Given the description of an element on the screen output the (x, y) to click on. 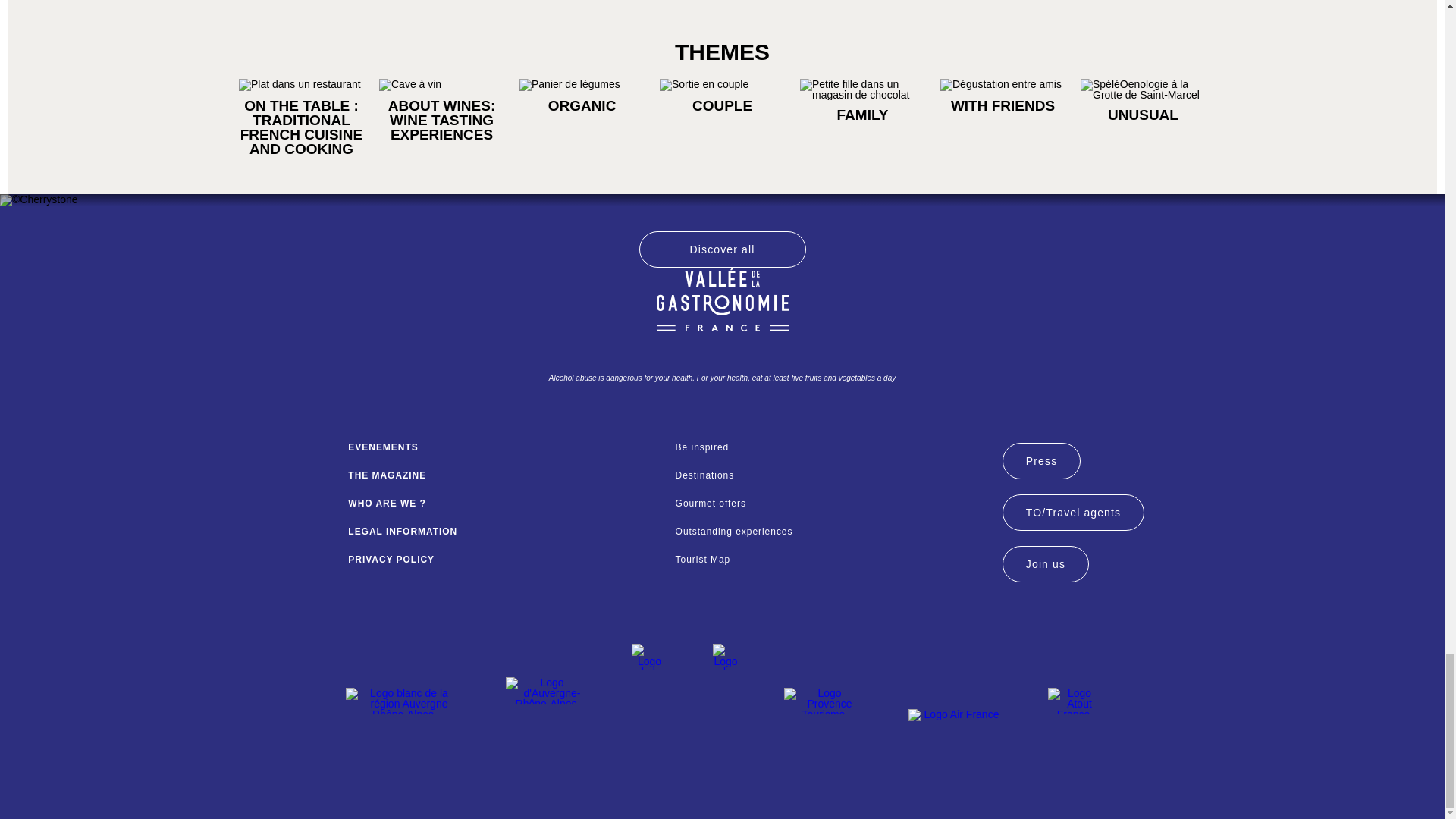
FAMILY (861, 114)
ON THE TABLE : TRADITIONAL FRENCH CUISINE AND COOKING (301, 127)
Be inspired (831, 447)
Press (1041, 461)
Gourmet offers (831, 502)
ORGANIC (582, 105)
PRIVACY POLICY (503, 559)
WHO ARE WE ? (503, 502)
WITH FRIENDS (1002, 105)
LEGAL INFORMATION (503, 531)
Discover all (722, 248)
EVENEMENTS (503, 447)
THE MAGAZINE (503, 474)
Outstanding experiences (831, 531)
UNUSUAL (1142, 114)
